Given the description of an element on the screen output the (x, y) to click on. 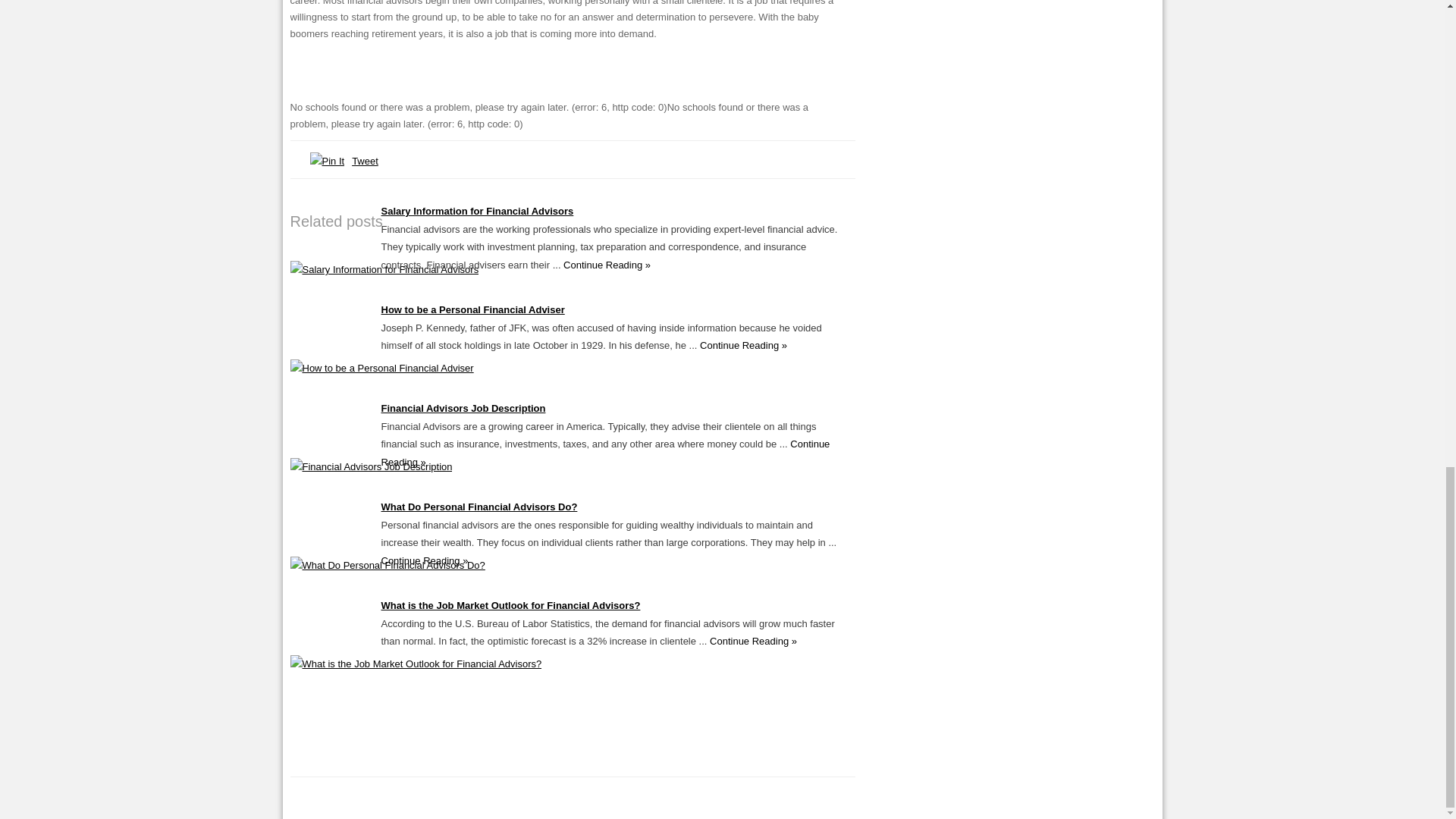
Financial Advisors Job Description (370, 466)
Salary Information for Financial Advisors (476, 211)
How to be a Personal Financial Adviser (472, 309)
What is the Job Market Outlook for Financial Advisors? (415, 663)
How to be a Personal Financial Adviser (381, 367)
What Do Personal Financial Advisors Do? (386, 564)
Salary Information for Financial Advisors (384, 269)
Tweet (365, 161)
Pin It (325, 160)
